Given the description of an element on the screen output the (x, y) to click on. 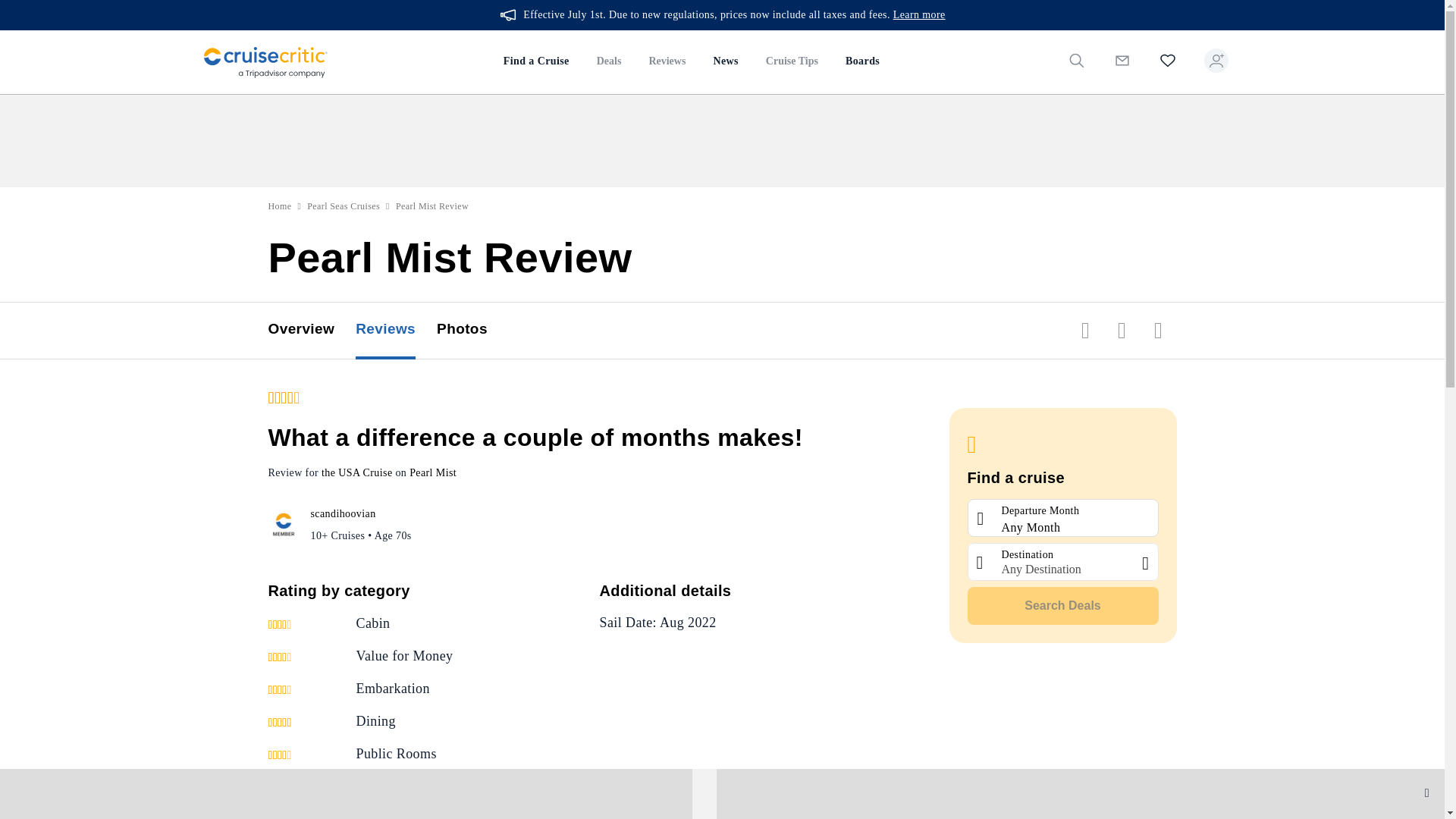
Search Deals (1063, 605)
Learn more (918, 15)
Pearl Seas Cruises (343, 205)
Reviews (395, 330)
Pearl Mist (433, 472)
the USA Cruise (357, 472)
Overview (311, 330)
Pearl Mist Review (432, 205)
Home (279, 205)
Find a Cruise (536, 62)
